Given the description of an element on the screen output the (x, y) to click on. 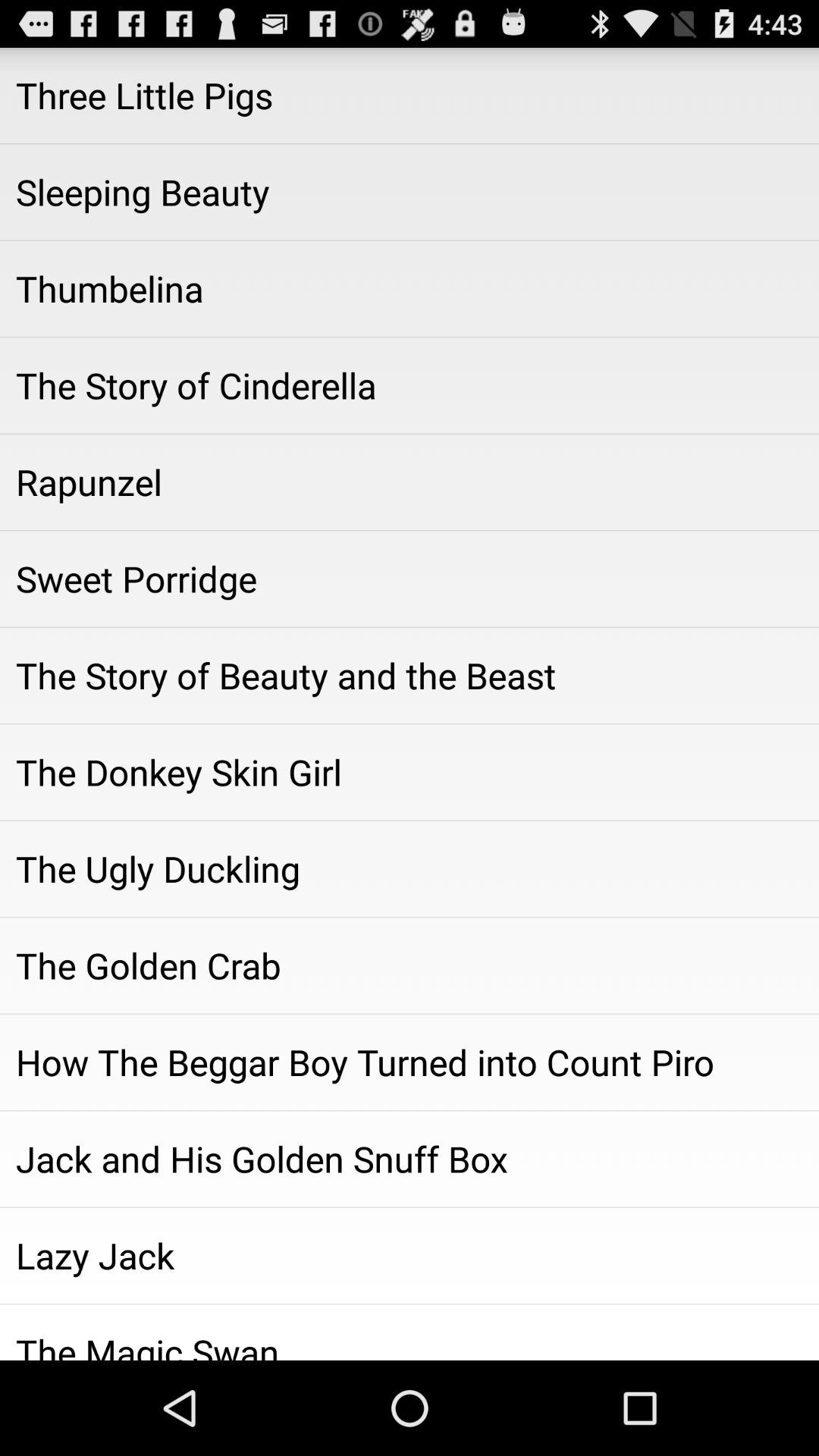
jump to rapunzel item (409, 482)
